Given the description of an element on the screen output the (x, y) to click on. 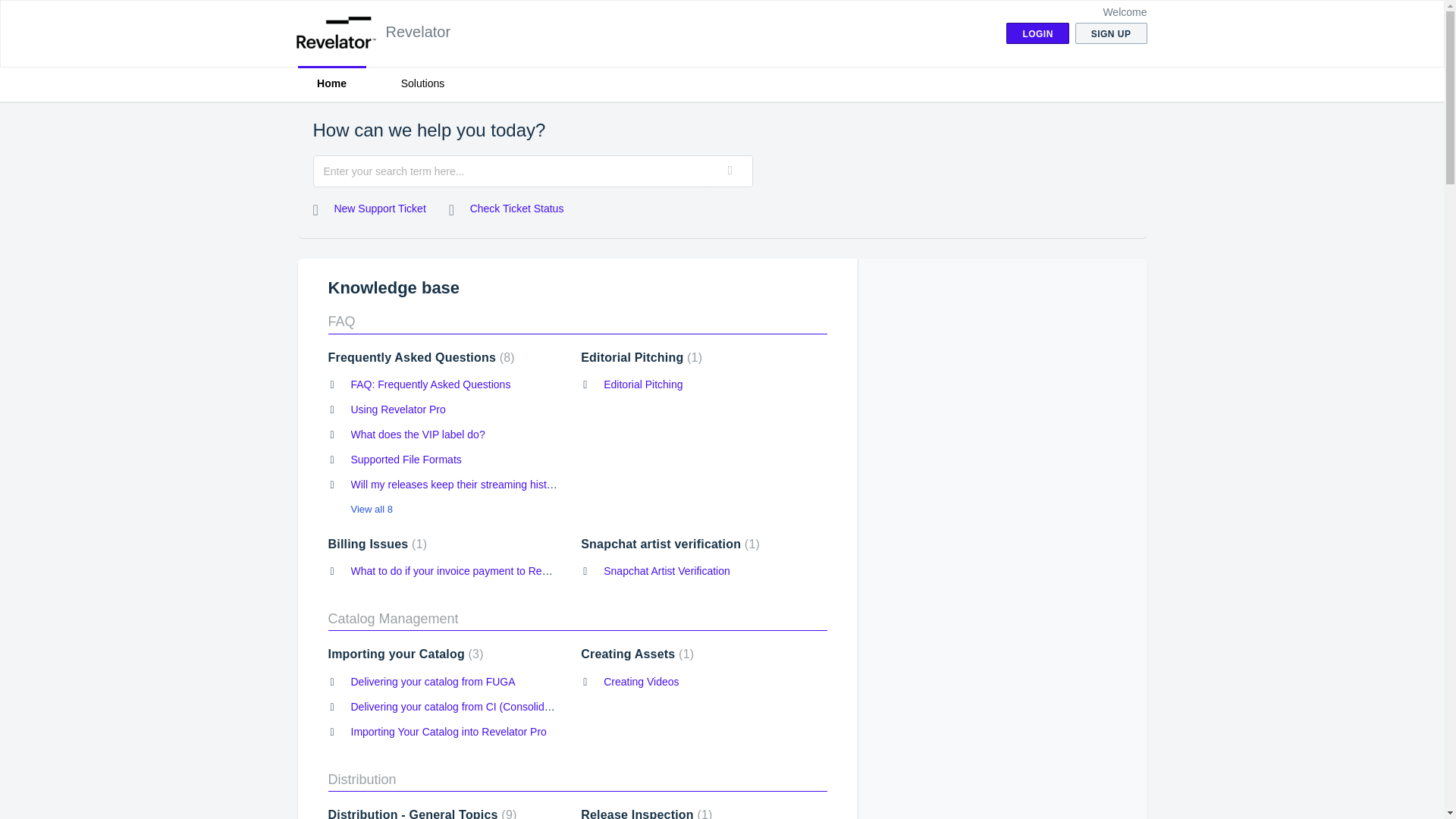
Editorial Pitching (640, 357)
Editorial Pitching (643, 384)
New support ticket (369, 208)
Importing your Catalog 3 (405, 653)
Snapchat Artist Verification (667, 571)
Billing Issues 1 (376, 543)
Release Inspection 1 (645, 813)
FAQ (341, 321)
Frequently Asked Questions 8 (420, 357)
